Given the description of an element on the screen output the (x, y) to click on. 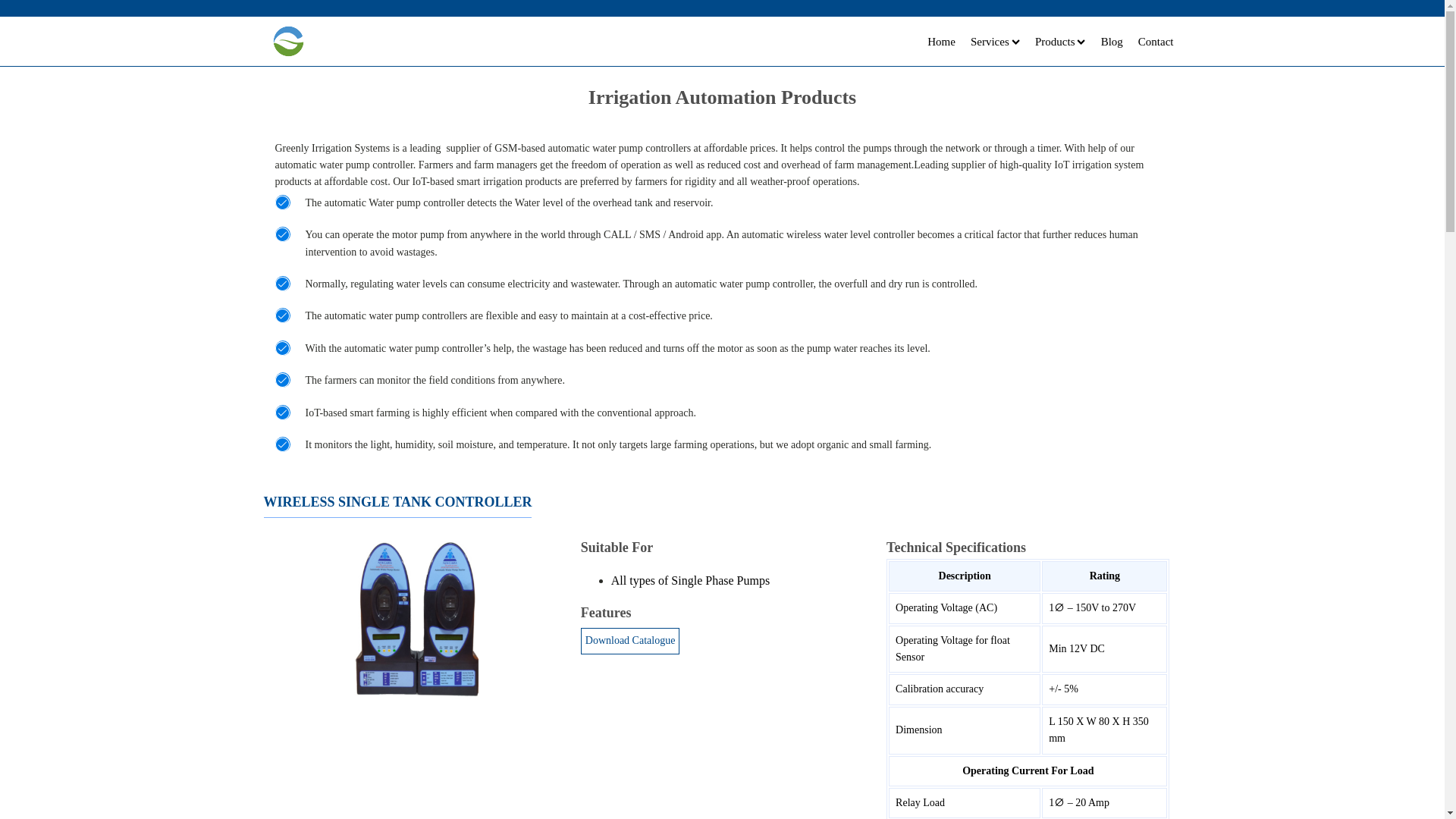
Blog (1112, 40)
Products (1060, 40)
Home (941, 40)
Contact (1155, 40)
Services (994, 40)
Download Catalogue (629, 640)
